Given the description of an element on the screen output the (x, y) to click on. 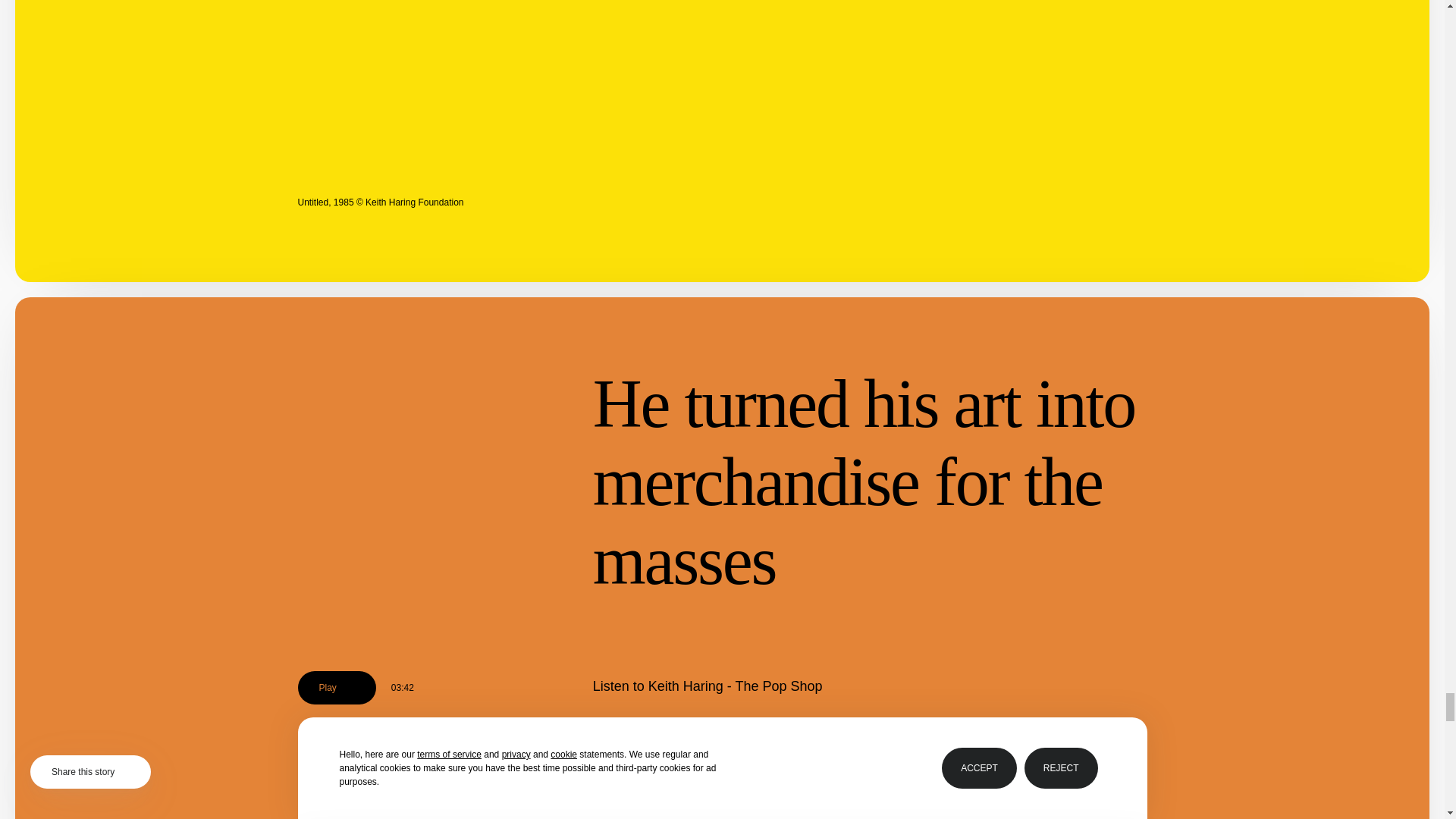
Play (336, 687)
